Given the description of an element on the screen output the (x, y) to click on. 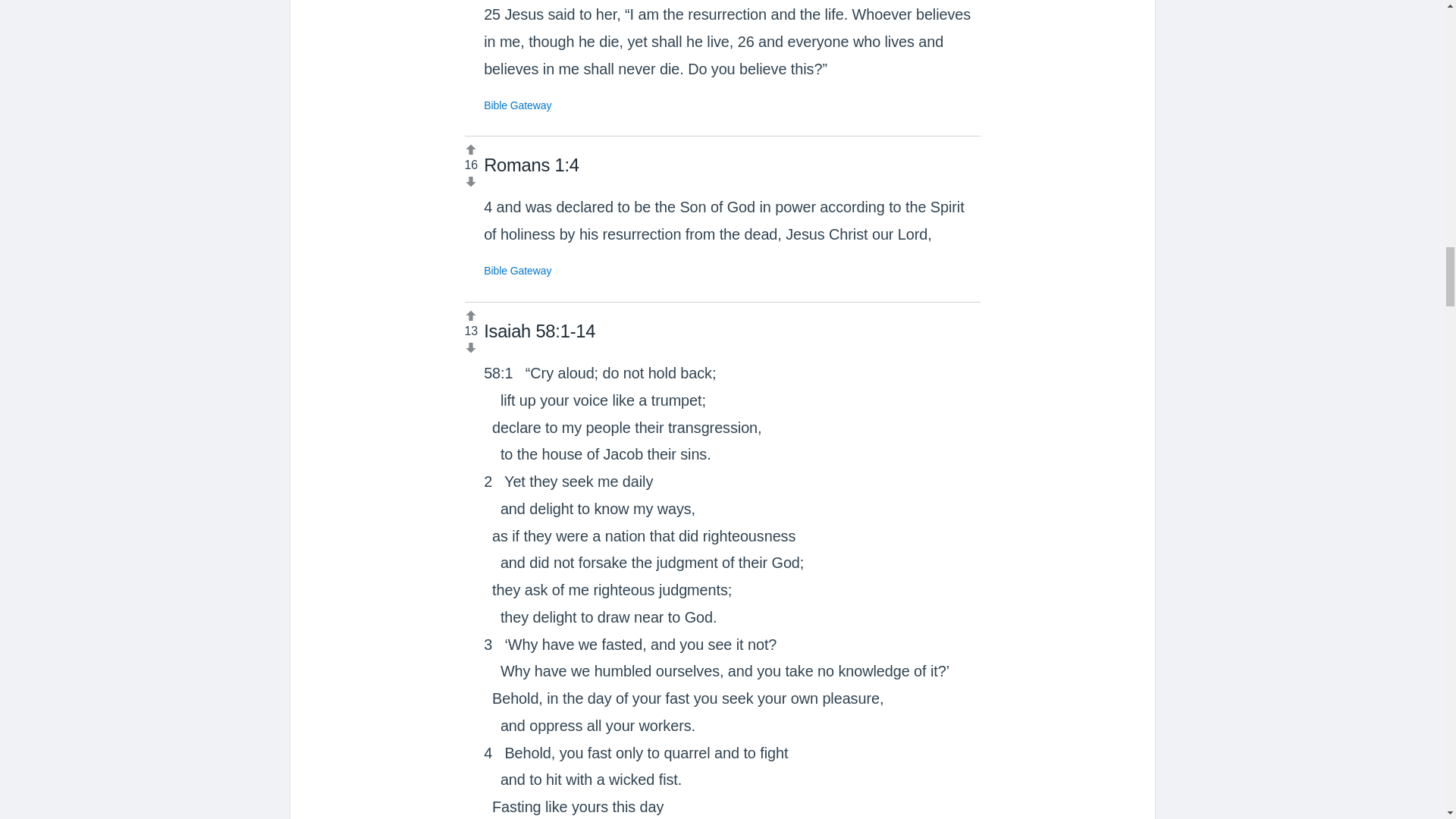
Bible Gateway (517, 104)
Bible Gateway (517, 270)
